Given the description of an element on the screen output the (x, y) to click on. 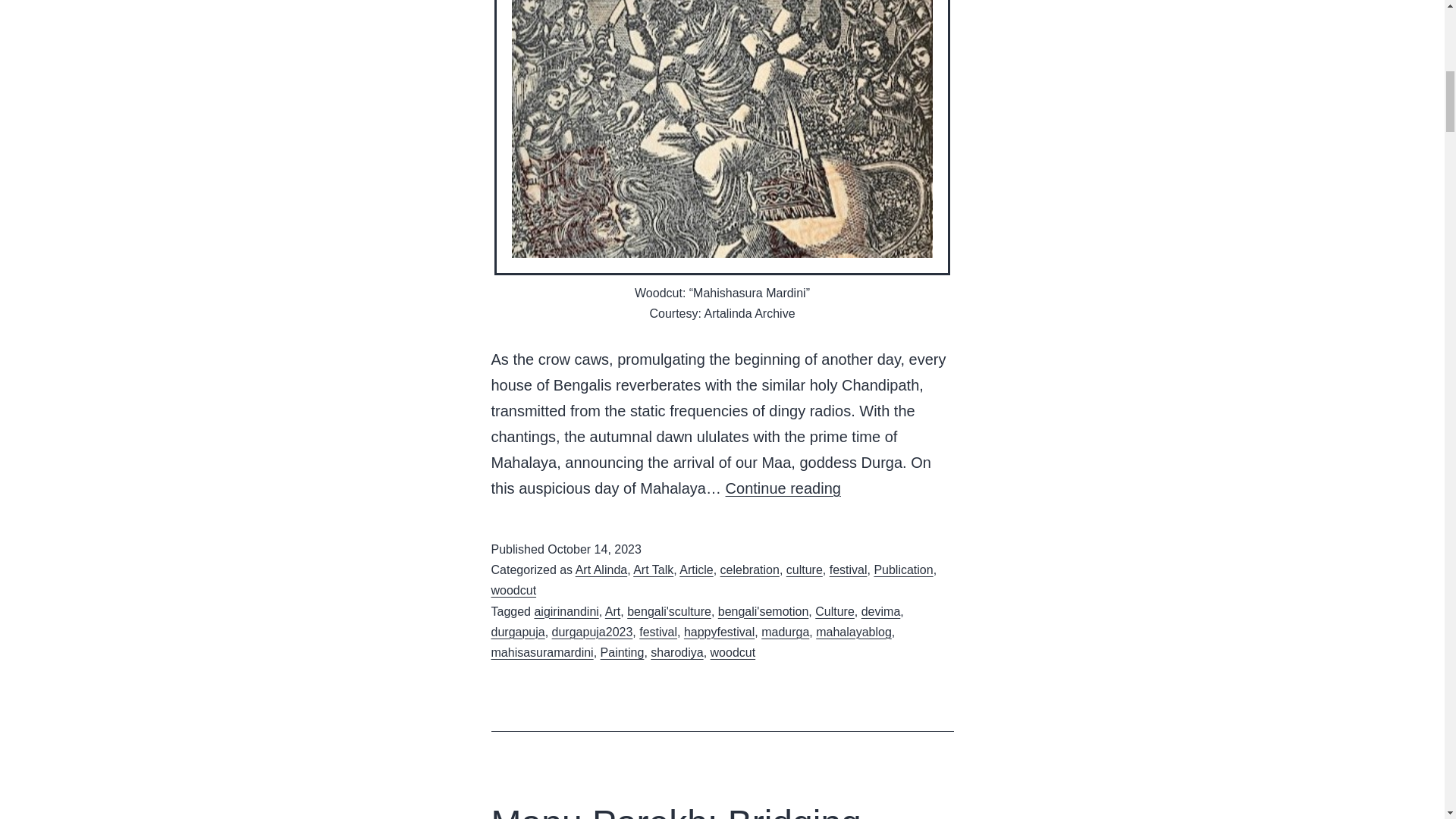
mahisasuramardini (543, 652)
Painting (622, 652)
aigirinandini (566, 611)
Art Alinda (601, 569)
sharodiya (676, 652)
woodcut (514, 590)
madurga (785, 631)
bengali'sculture (669, 611)
happyfestival (719, 631)
devima (881, 611)
